Given the description of an element on the screen output the (x, y) to click on. 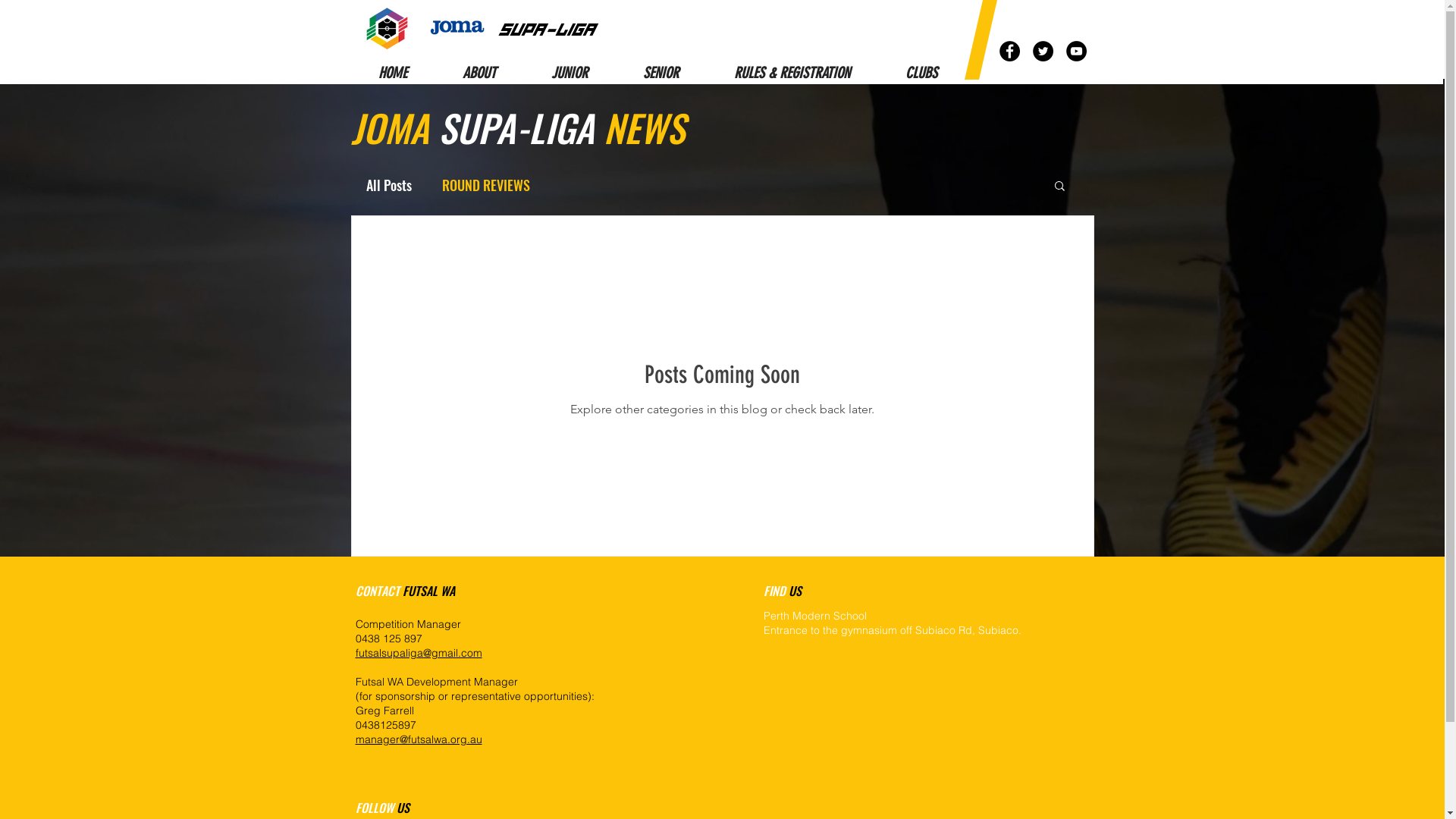
All Posts Element type: text (388, 184)
ROUND REVIEWS Element type: text (485, 184)
ABOUT Element type: text (478, 72)
CLUBS Element type: text (920, 72)
manager@futsalwa.org.au Element type: text (417, 739)
futsalsupaliga@gmail.com Element type: text (417, 652)
HOME Element type: text (392, 72)
